Given the description of an element on the screen output the (x, y) to click on. 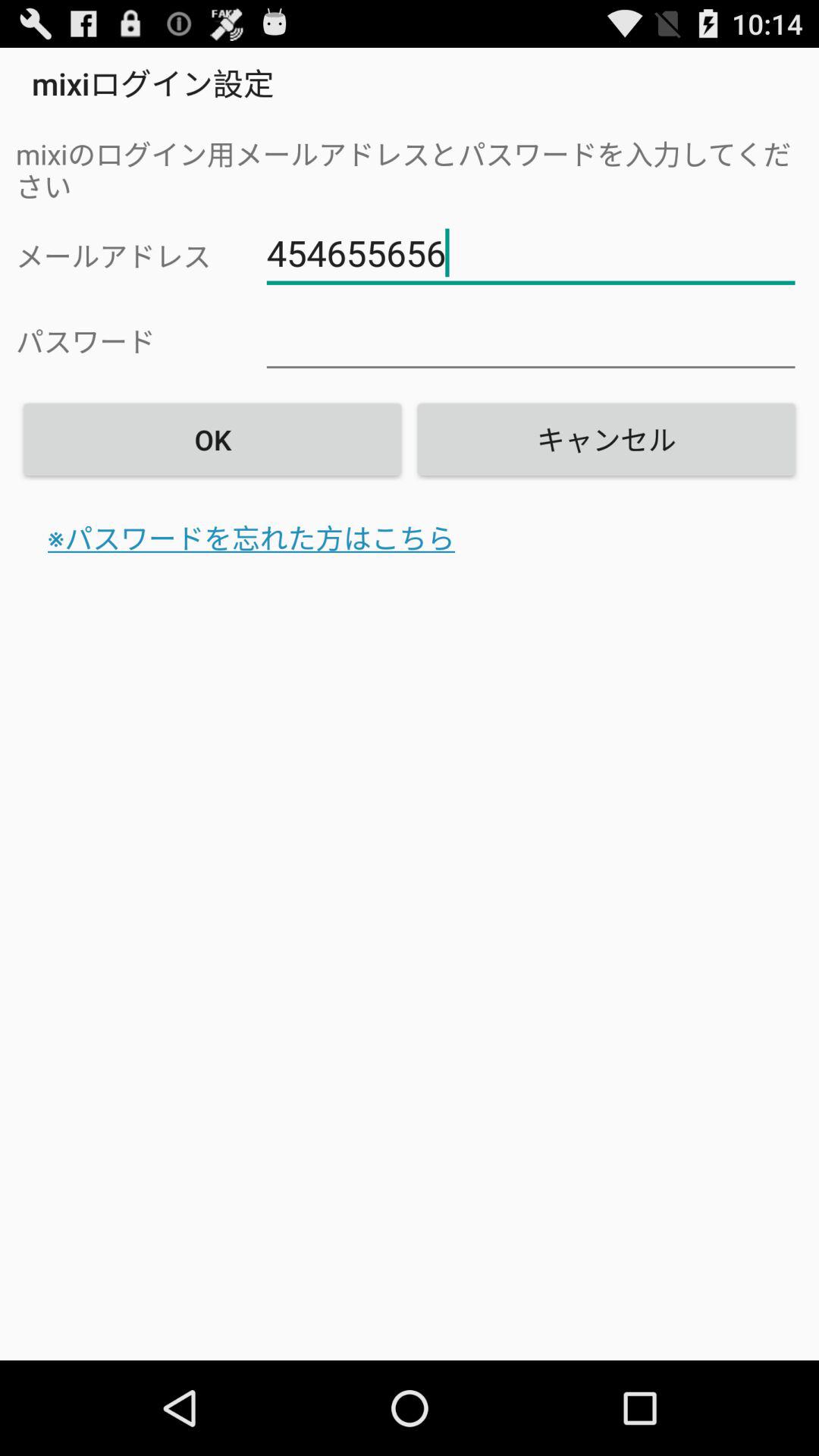
jump until 454655656 (530, 253)
